Given the description of an element on the screen output the (x, y) to click on. 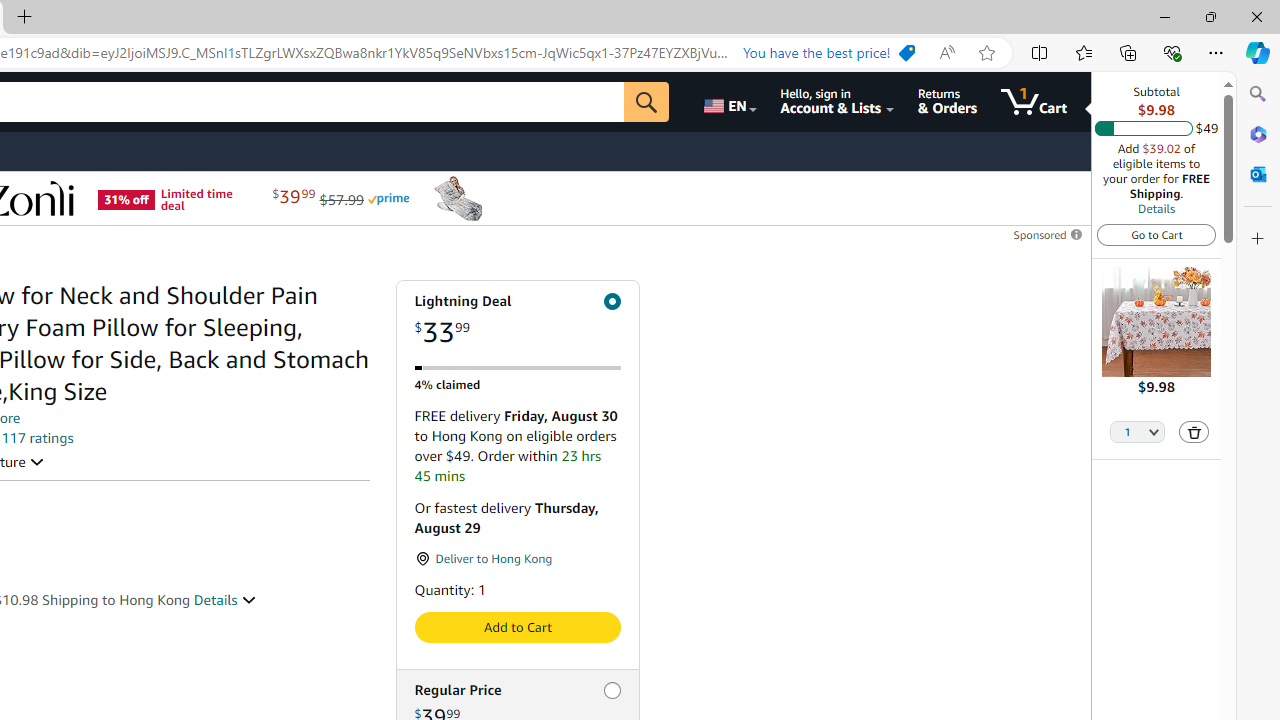
Details  (225, 599)
Delete (1193, 431)
Add to Cart (516, 627)
You have the best price! (828, 53)
Delete (1194, 431)
Choose a language for shopping. (728, 101)
Lightning Deal $33.99 (516, 320)
